Given the description of an element on the screen output the (x, y) to click on. 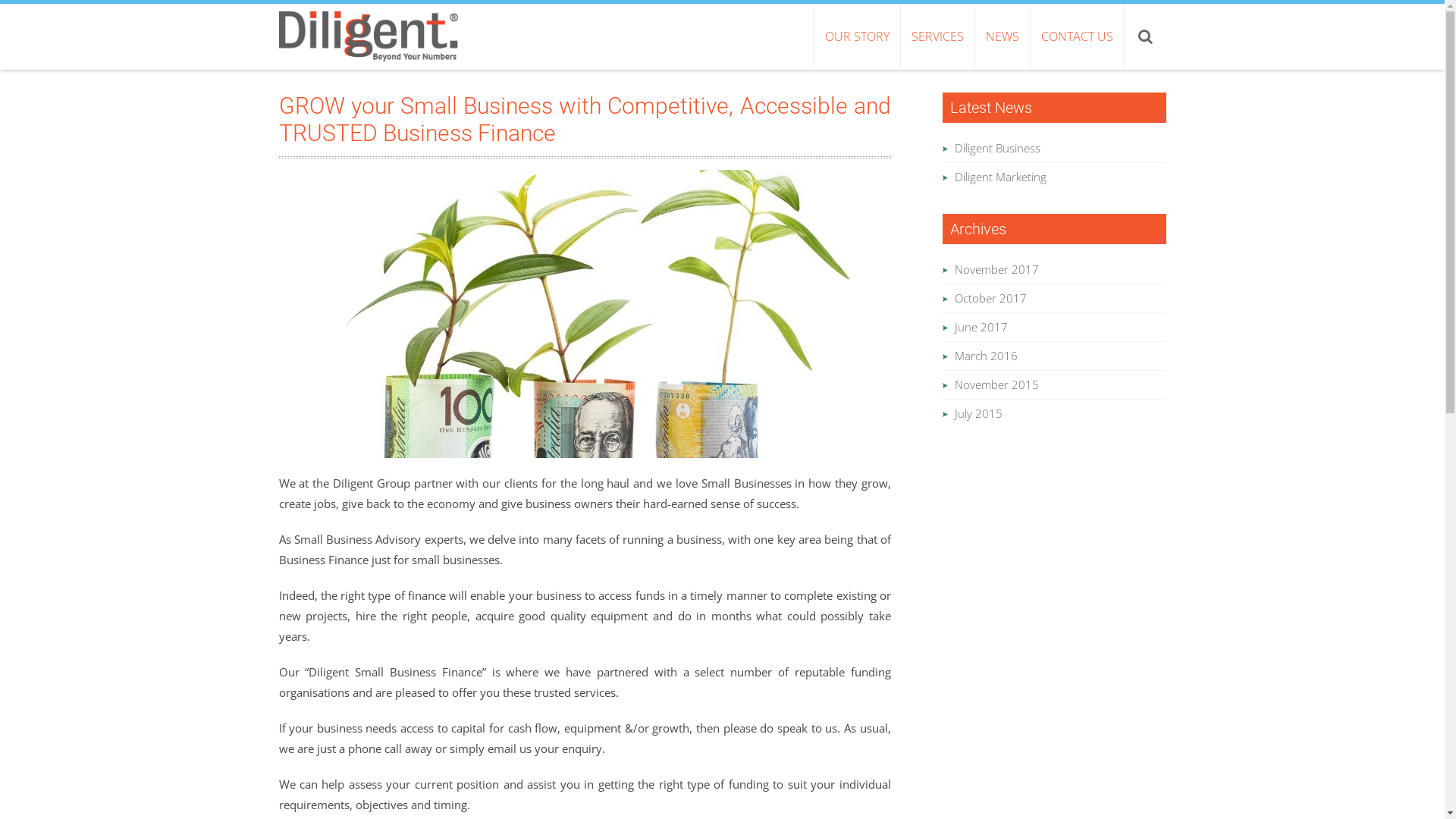
CONTACT US Element type: text (1076, 36)
OUR STORY Element type: text (855, 36)
Diligent Business Element type: text (997, 147)
Diligent Marketing Element type: text (1000, 176)
NEWS Element type: text (1001, 36)
July 2015 Element type: text (978, 412)
June 2017 Element type: text (980, 326)
October 2017 Element type: text (990, 297)
March 2016 Element type: text (985, 355)
November 2015 Element type: text (996, 384)
SERVICES Element type: text (936, 36)
November 2017 Element type: text (996, 268)
